Given the description of an element on the screen output the (x, y) to click on. 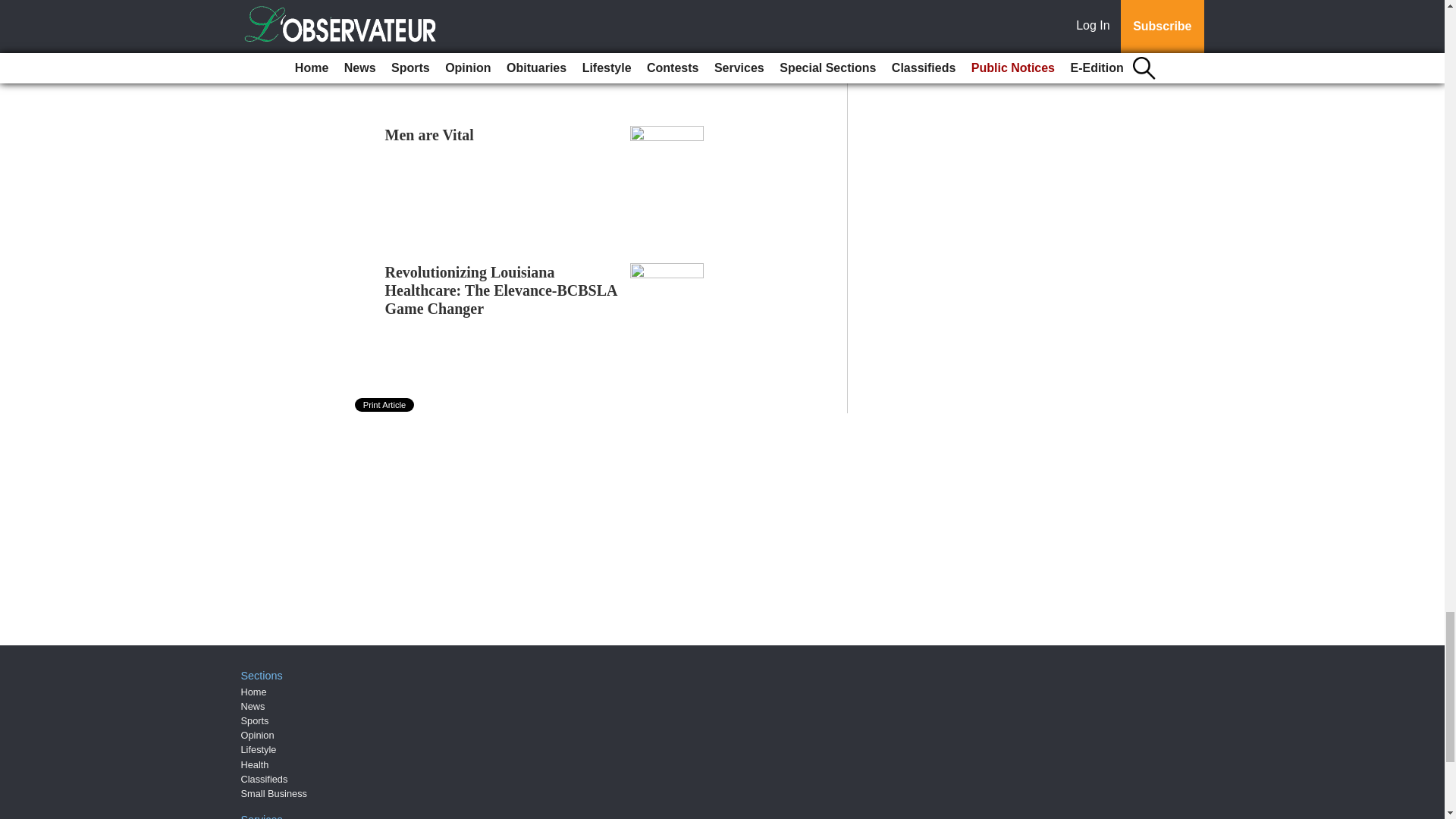
Choosing Between Love and Sobriety (477, 13)
Men are Vital (429, 134)
Men are Vital (429, 134)
Choosing Between Love and Sobriety (477, 13)
Print Article (384, 404)
